Given the description of an element on the screen output the (x, y) to click on. 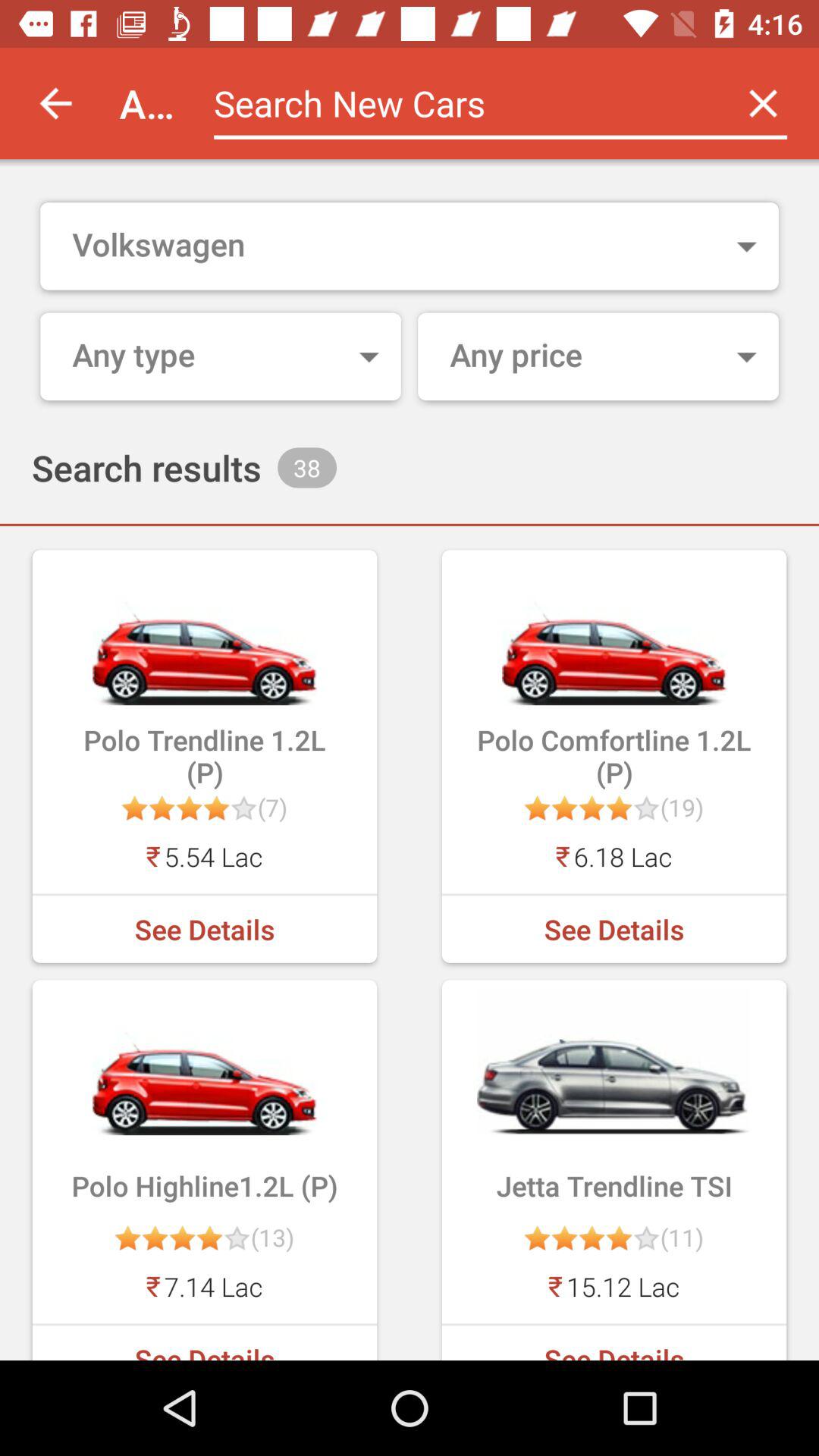
search (460, 103)
